Given the description of an element on the screen output the (x, y) to click on. 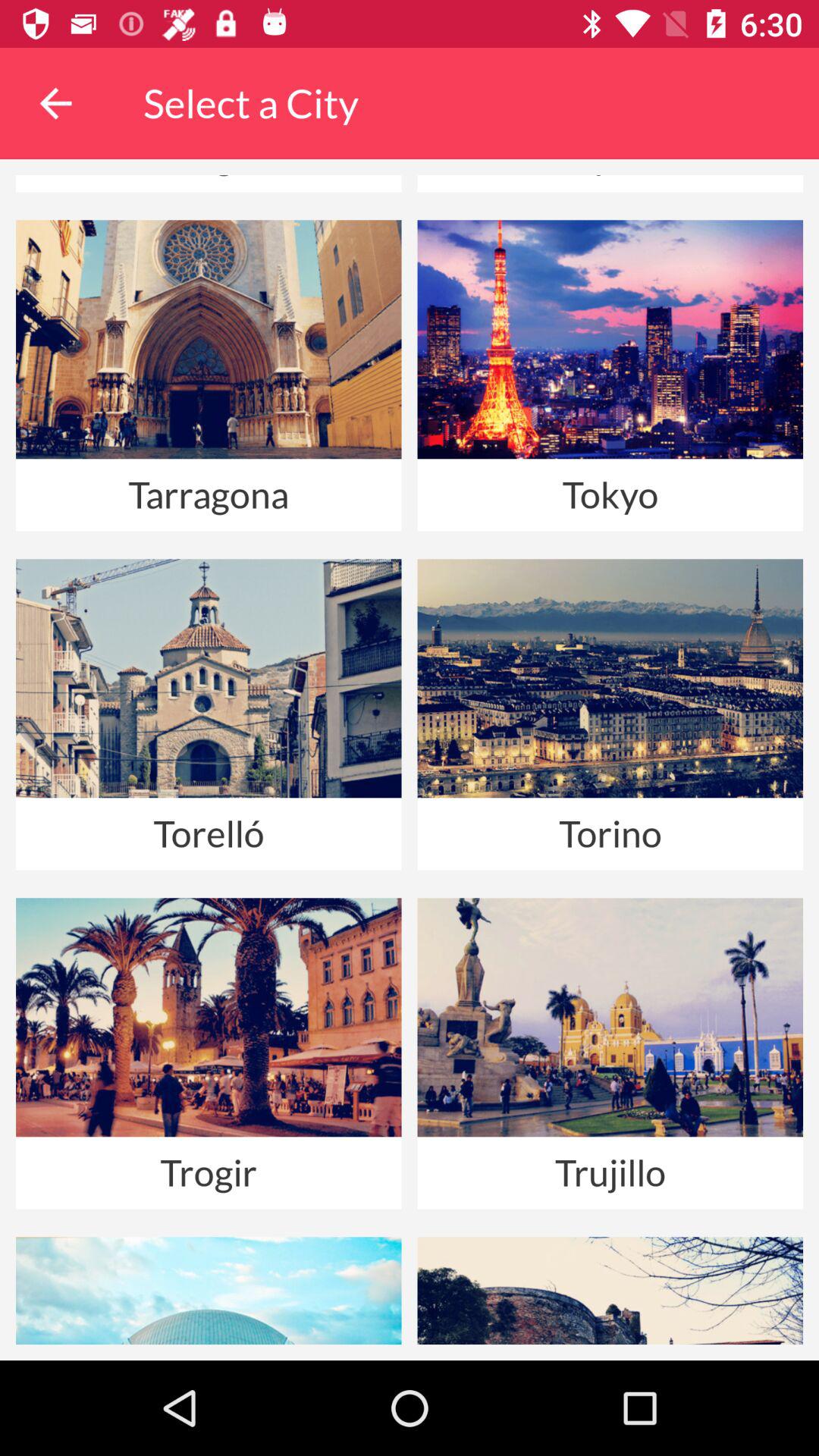
turn on the item above the shanghai (55, 103)
